Given the description of an element on the screen output the (x, y) to click on. 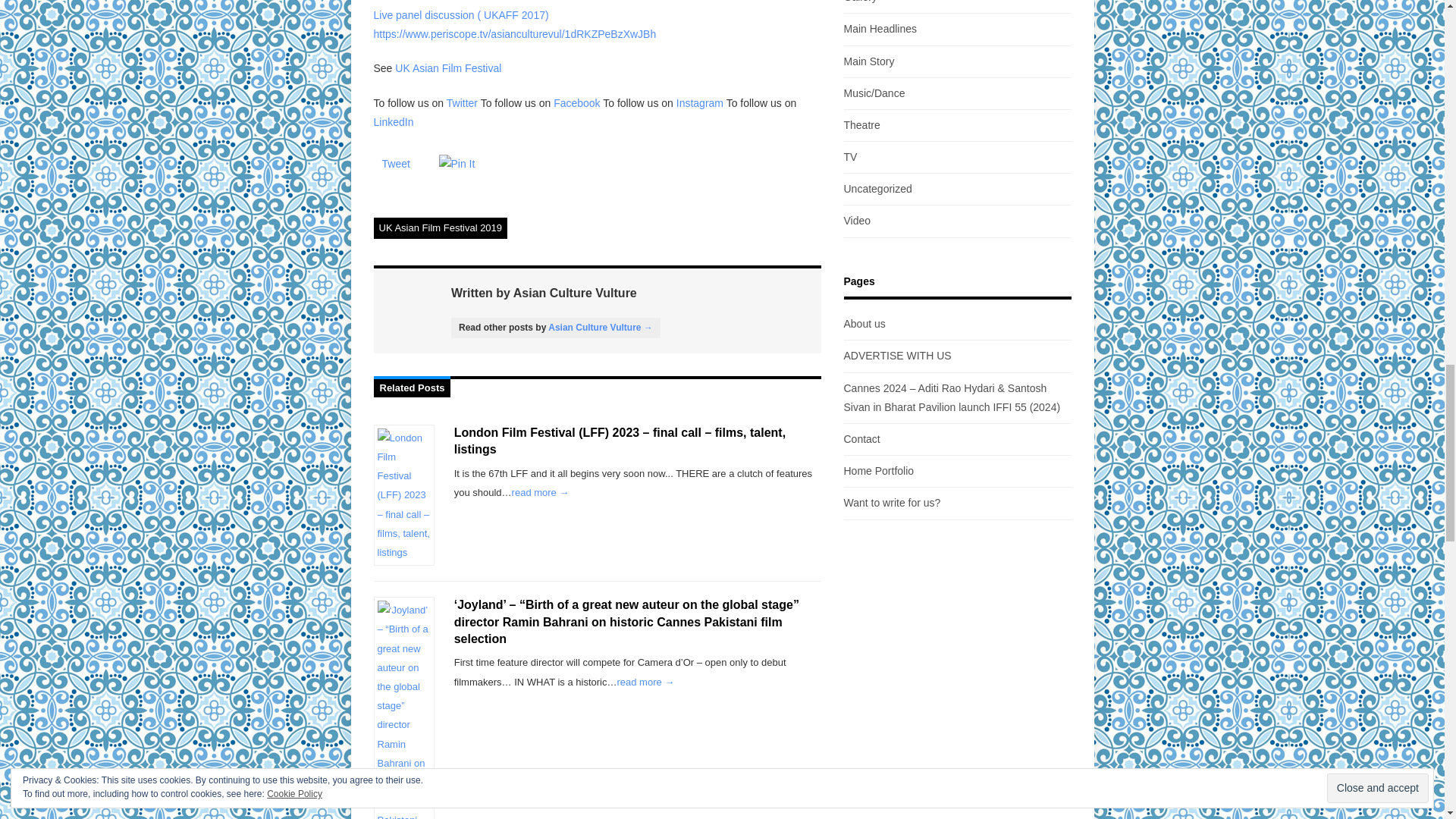
UK Asian Film Festival (447, 68)
Instagram (700, 102)
Twitter (463, 102)
UK Asian Film Festival 2019 (439, 227)
Tweet (395, 163)
Facebook (577, 102)
LinkedIn (392, 121)
Pin It (457, 163)
